Given the description of an element on the screen output the (x, y) to click on. 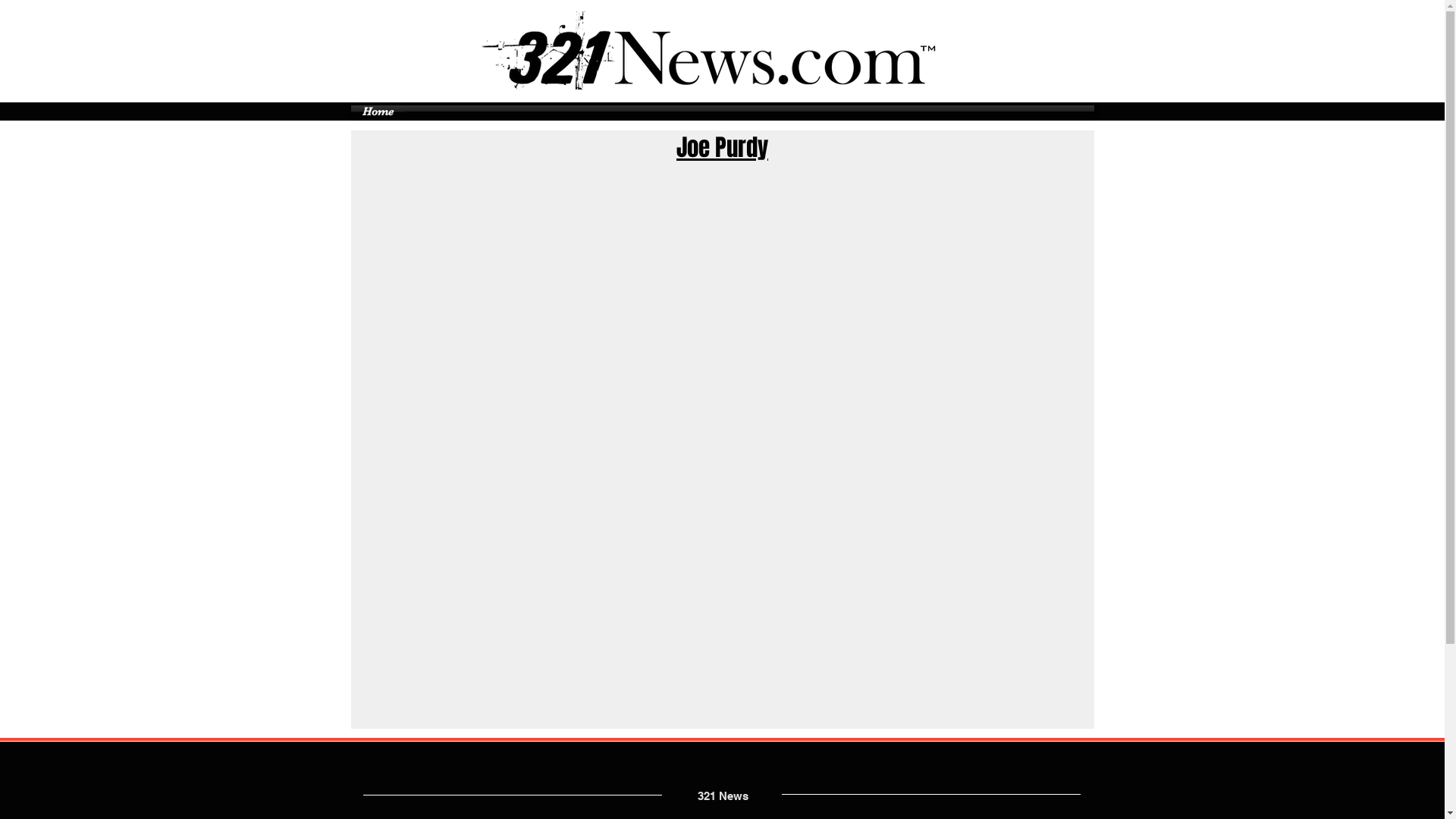
External YouTube Element type: hover (724, 299)
Joe Purdy Element type: text (722, 147)
Home Element type: text (377, 111)
External YouTube Element type: hover (721, 596)
